Given the description of an element on the screen output the (x, y) to click on. 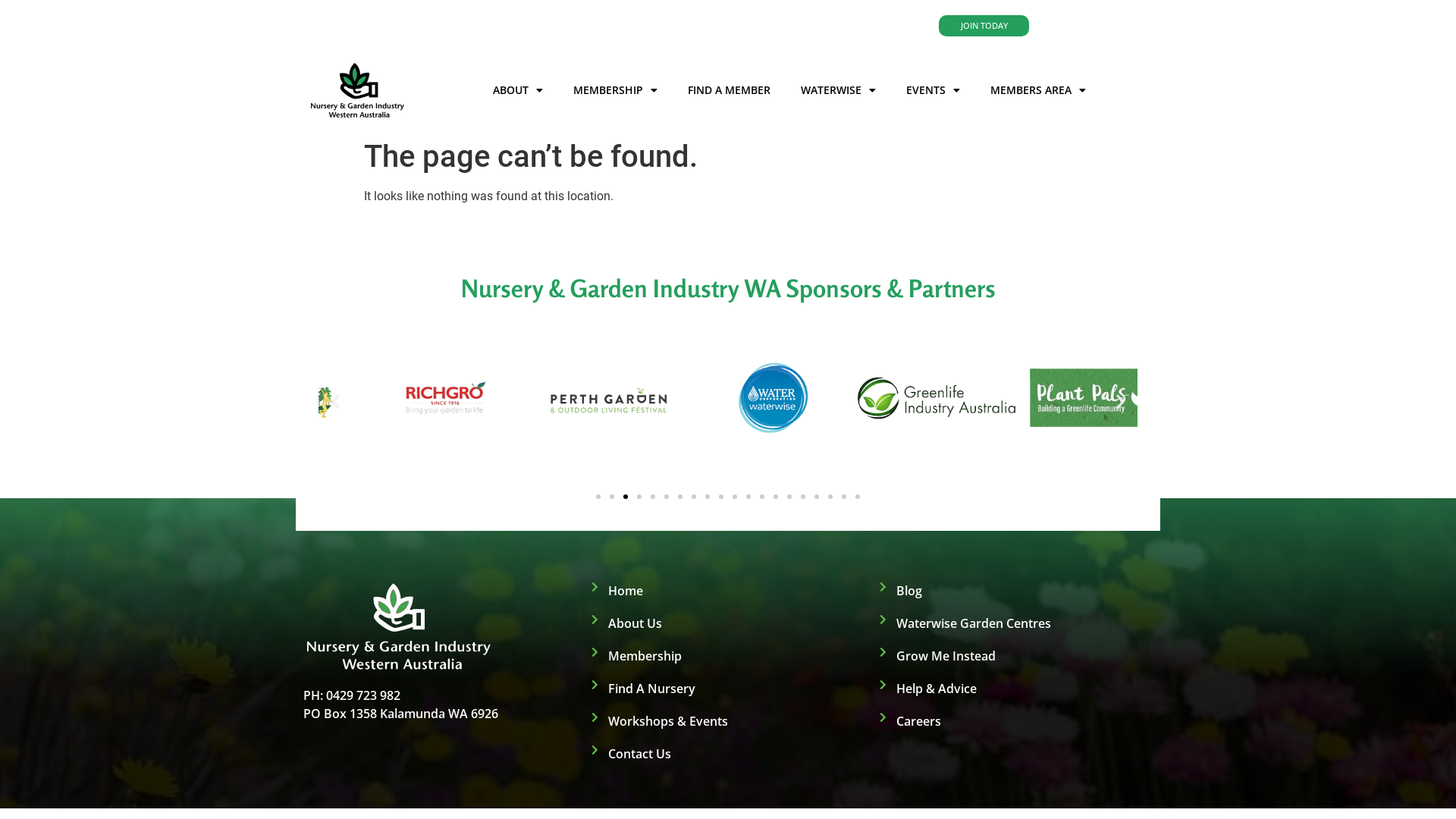
Workshops & Events Element type: text (727, 721)
Grow Me Instead Element type: text (1015, 655)
Find A Nursery Element type: text (727, 688)
ABOUT Element type: text (517, 89)
Help & Advice Element type: text (1015, 688)
About Us Element type: text (727, 623)
Blog Element type: text (1015, 590)
Membership Element type: text (727, 655)
FIND A MEMBER Element type: text (728, 89)
WATERWISE Element type: text (838, 89)
MEMBERSHIP Element type: text (615, 89)
Waterwise Garden Centres Element type: text (1015, 623)
Contact Us Element type: text (727, 753)
MEMBERS AREA Element type: text (1038, 89)
Careers Element type: text (1015, 721)
Home Element type: text (727, 590)
EVENTS Element type: text (933, 89)
JOIN TODAY Element type: text (983, 25)
